Given the description of an element on the screen output the (x, y) to click on. 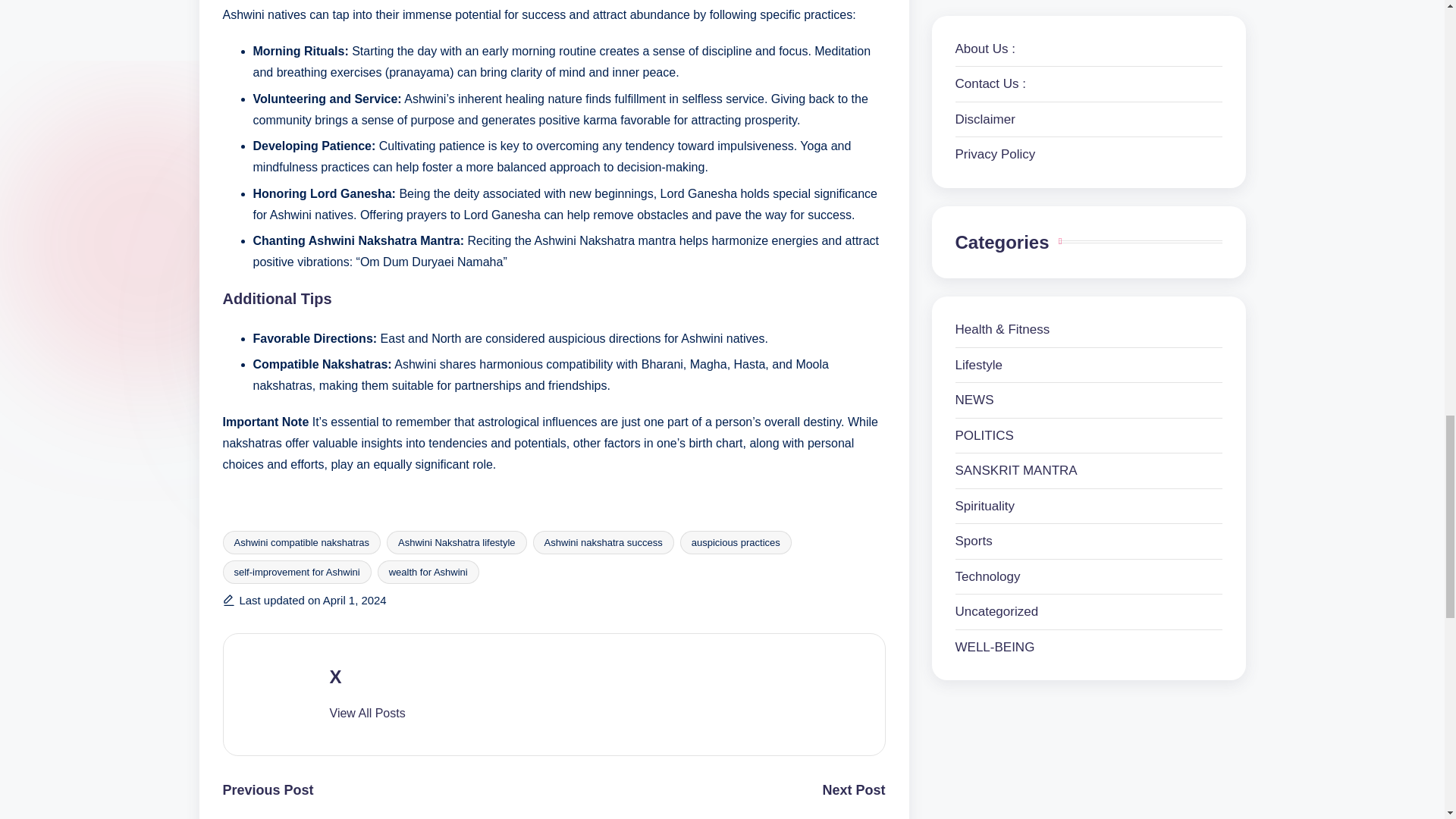
Ashwini nakshatra success (603, 542)
auspicious practices (735, 542)
self-improvement for Ashwini (296, 571)
Ashwini compatible nakshatras (301, 542)
wealth for Ashwini (428, 571)
Ashwini Nakshatra lifestyle (457, 542)
View All Posts (366, 713)
